Given the description of an element on the screen output the (x, y) to click on. 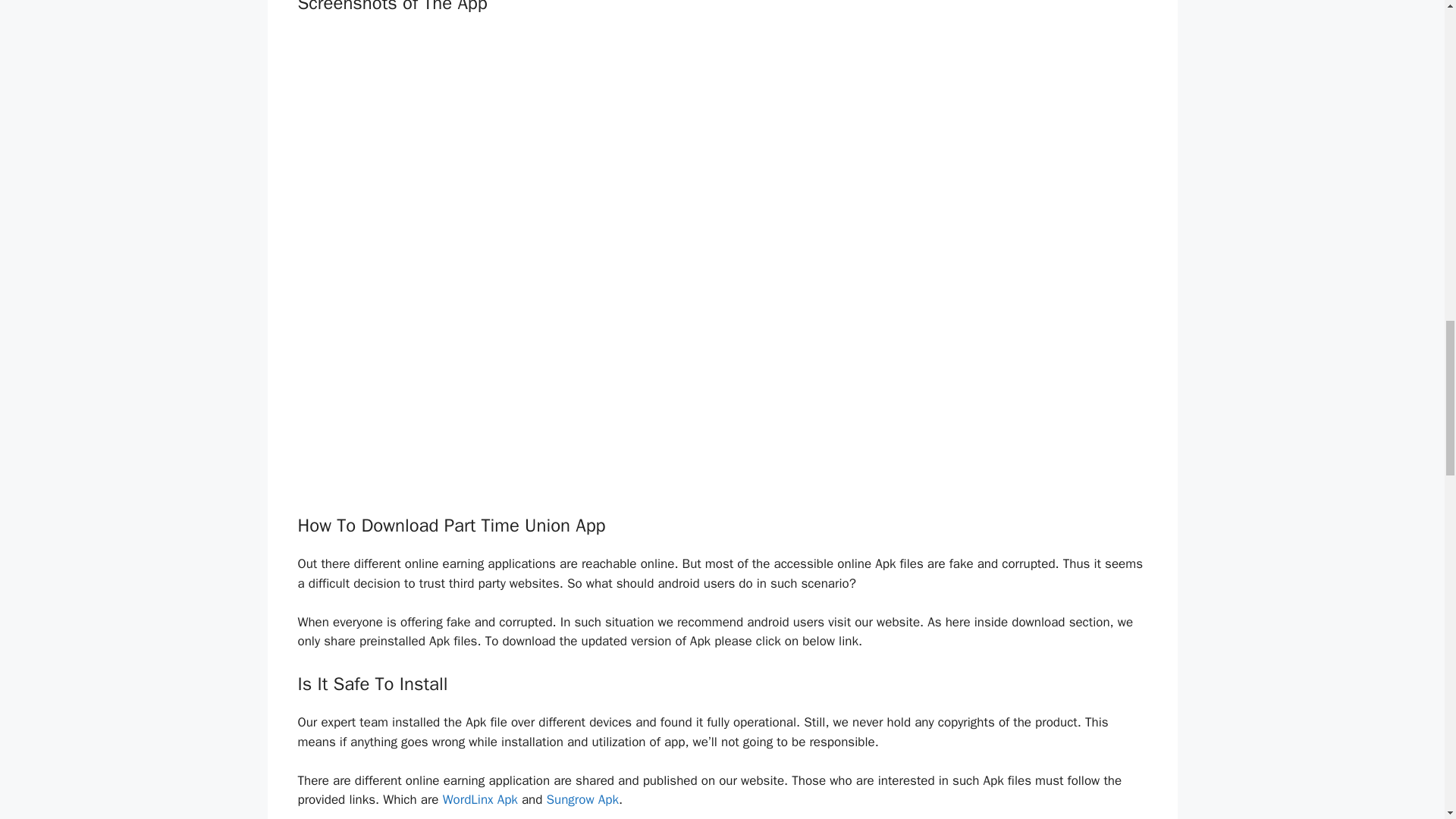
WordLinx Apk (480, 799)
Sungrow Apk (581, 799)
